Given the description of an element on the screen output the (x, y) to click on. 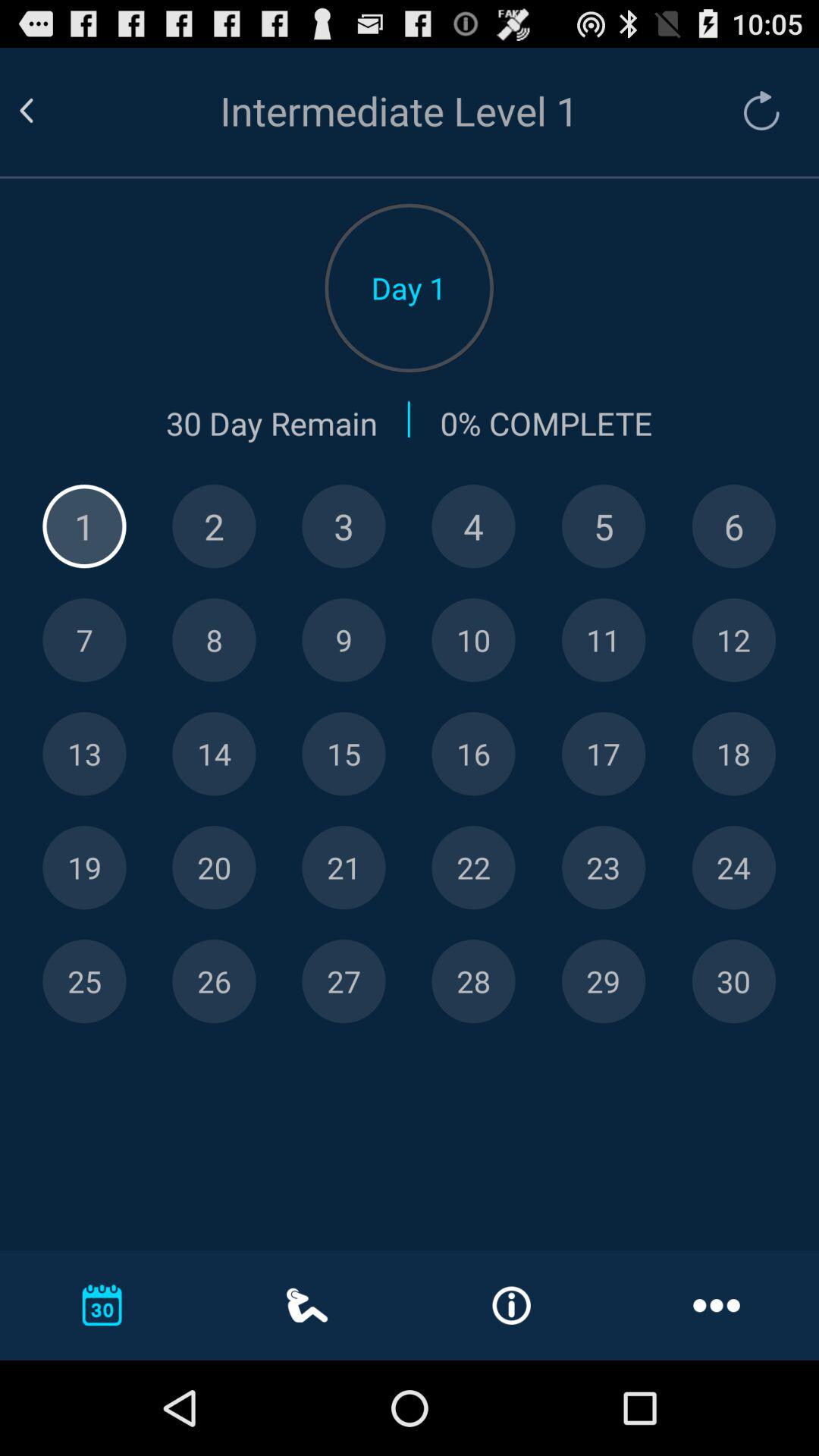
select day 8 on calendar (213, 639)
